Given the description of an element on the screen output the (x, y) to click on. 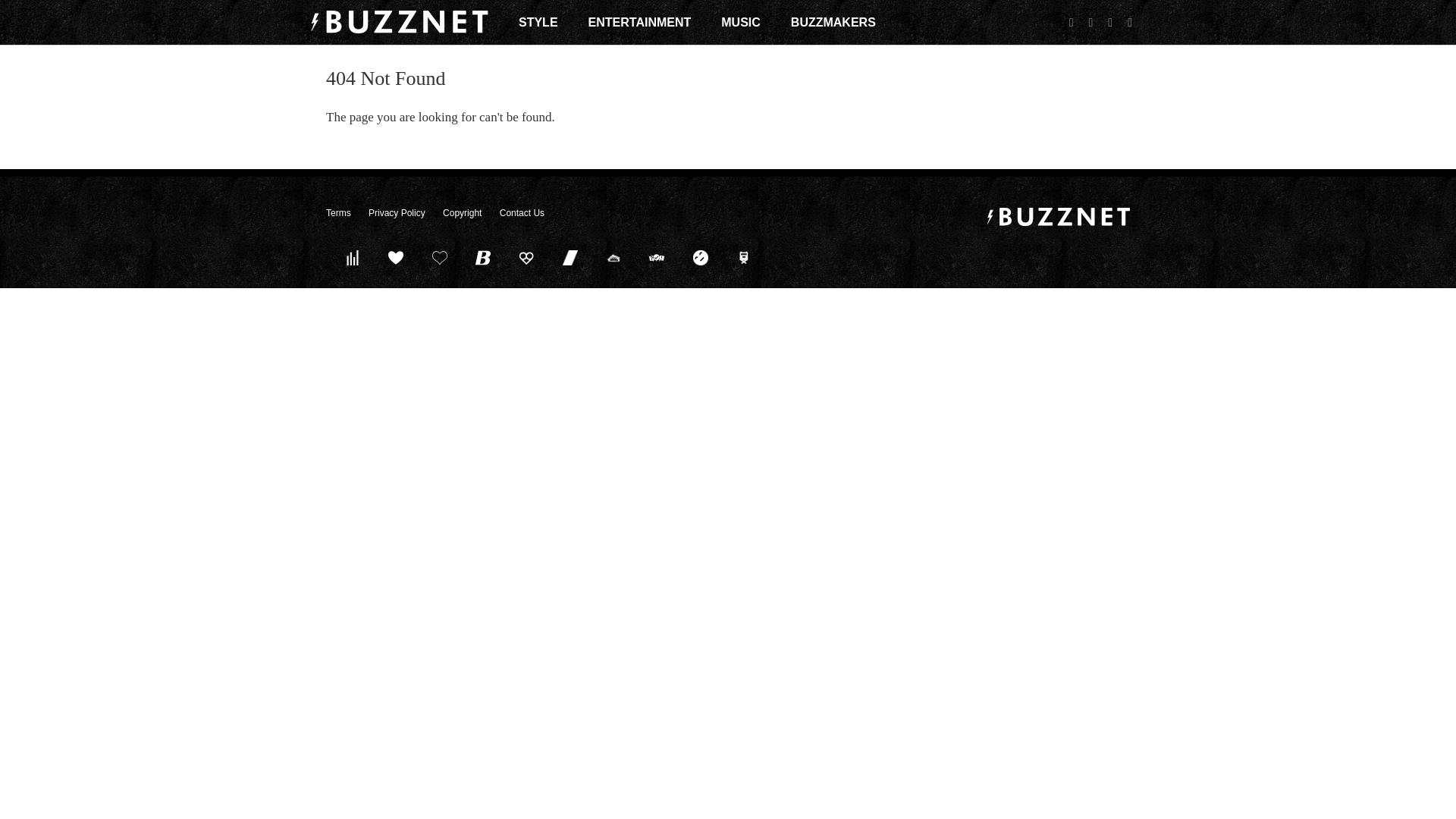
Taco Relish (612, 257)
BUZZMAKERS (833, 22)
ENTERTAINMENT (639, 22)
BleacherBreaker (483, 257)
Daily Funny (699, 257)
Hooch (526, 257)
Contact Us (521, 213)
Pure Volume (351, 257)
Privacy Policy (396, 213)
Terms (338, 213)
